Given the description of an element on the screen output the (x, y) to click on. 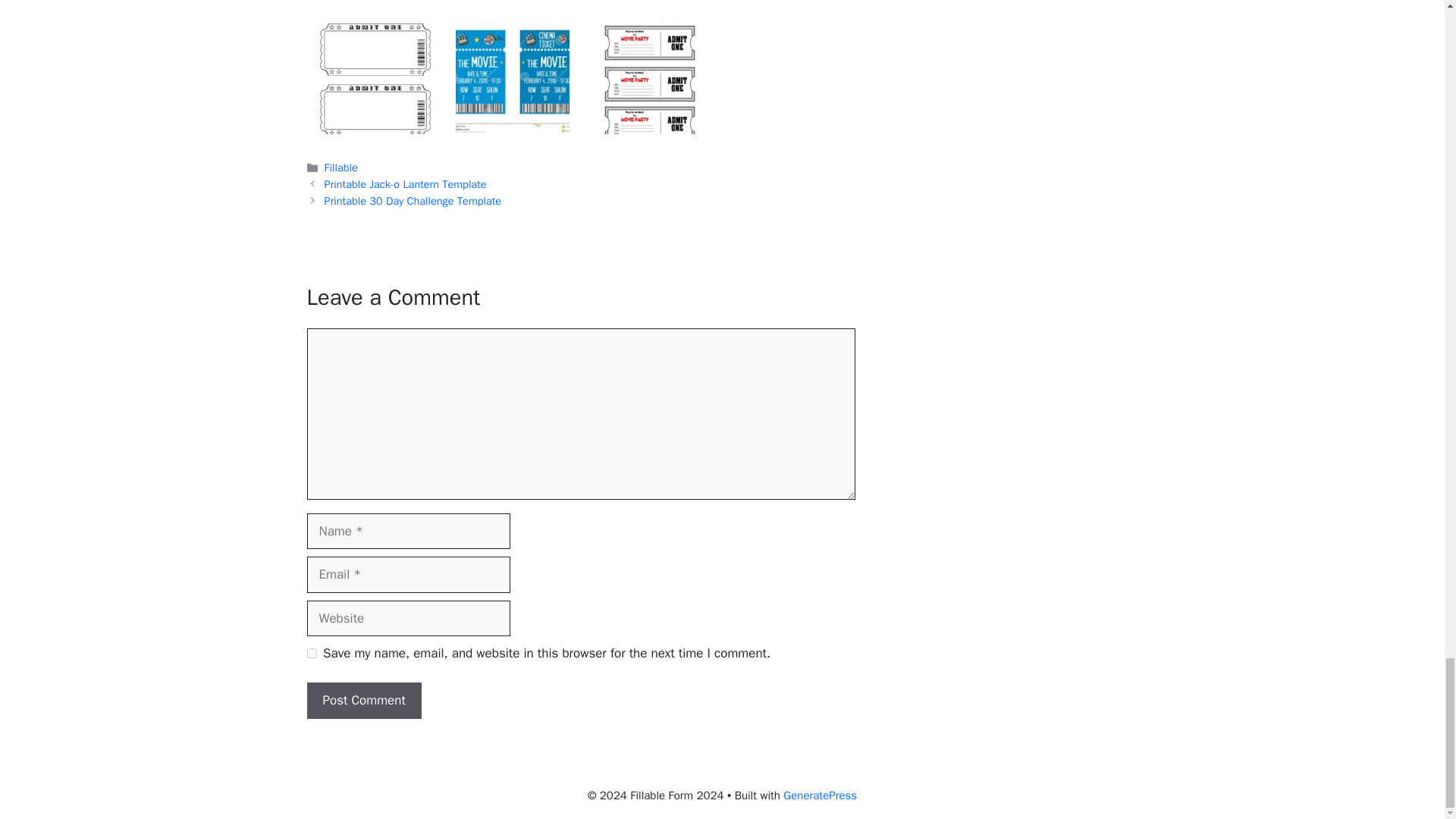
GeneratePress (820, 795)
Printable 30 Day Challenge Template (413, 201)
Post Comment (362, 700)
Fillable (341, 167)
Printable Jack-o Lantern Template (405, 183)
Post Comment (362, 700)
yes (310, 653)
